Given the description of an element on the screen output the (x, y) to click on. 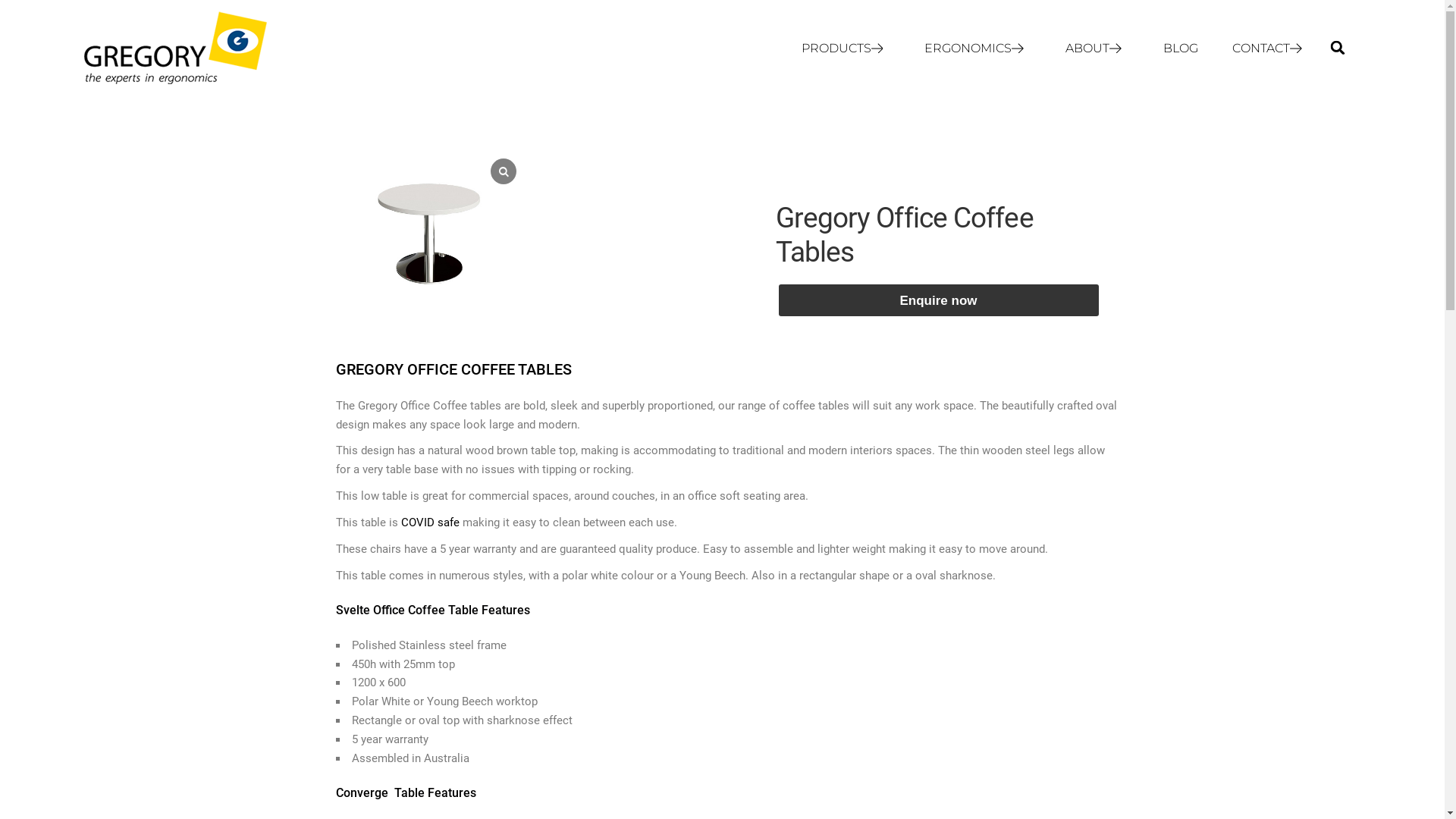
CONTACT Element type: text (1270, 48)
COVID safe Element type: text (429, 522)
BLOG Element type: text (1180, 48)
ERGONOMICS Element type: text (977, 48)
ABOUT Element type: text (1097, 48)
PRODUCTS Element type: text (846, 48)
Enquire now Element type: text (938, 300)
